Given the description of an element on the screen output the (x, y) to click on. 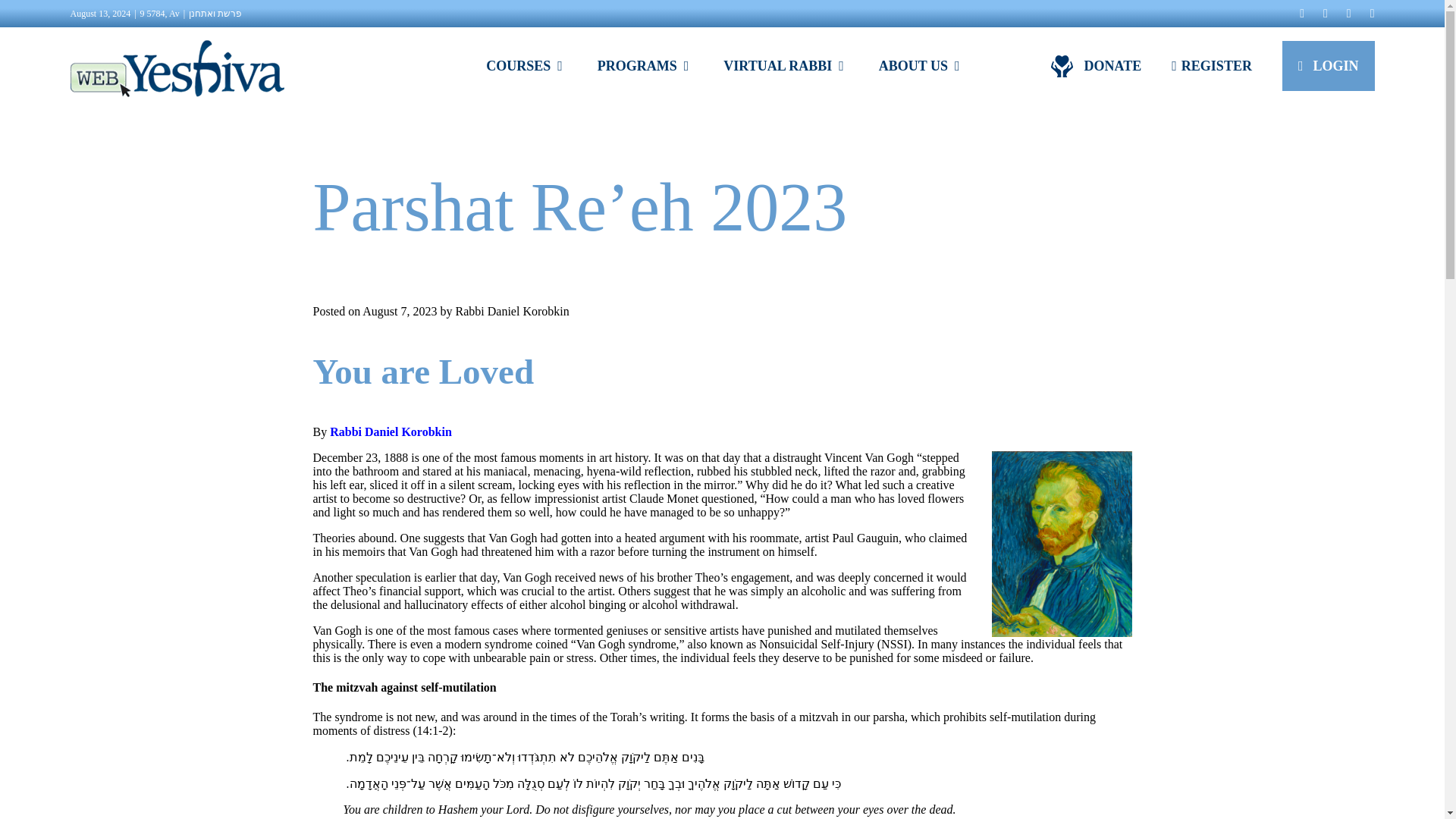
ABOUT US (919, 64)
REGISTER (1212, 65)
DONATE (1096, 65)
COURSES (524, 64)
PROGRAMS (642, 64)
August 7, 2023 (399, 310)
LOGIN (1328, 65)
VIRTUAL RABBI (783, 64)
